Given the description of an element on the screen output the (x, y) to click on. 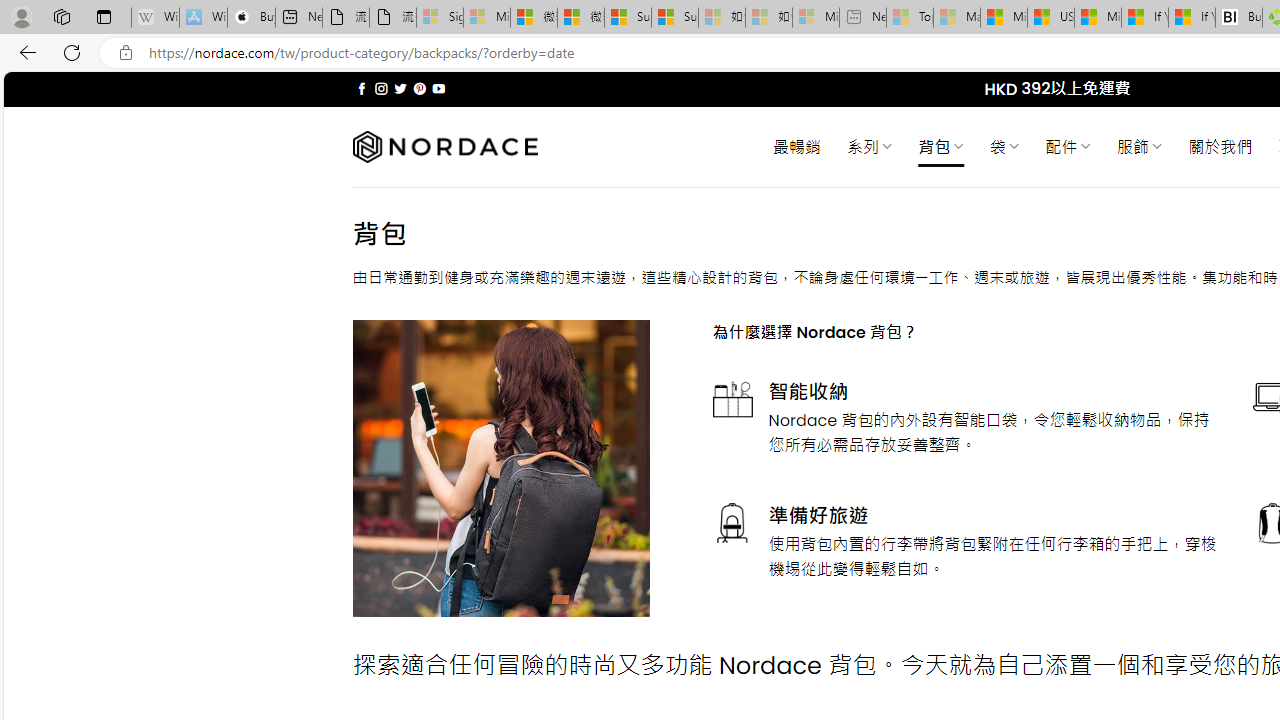
Follow on Facebook (361, 88)
Follow on Twitter (400, 88)
Sign in to your Microsoft account - Sleeping (440, 17)
Follow on YouTube (438, 88)
Microsoft Services Agreement - Sleeping (486, 17)
